Given the description of an element on the screen output the (x, y) to click on. 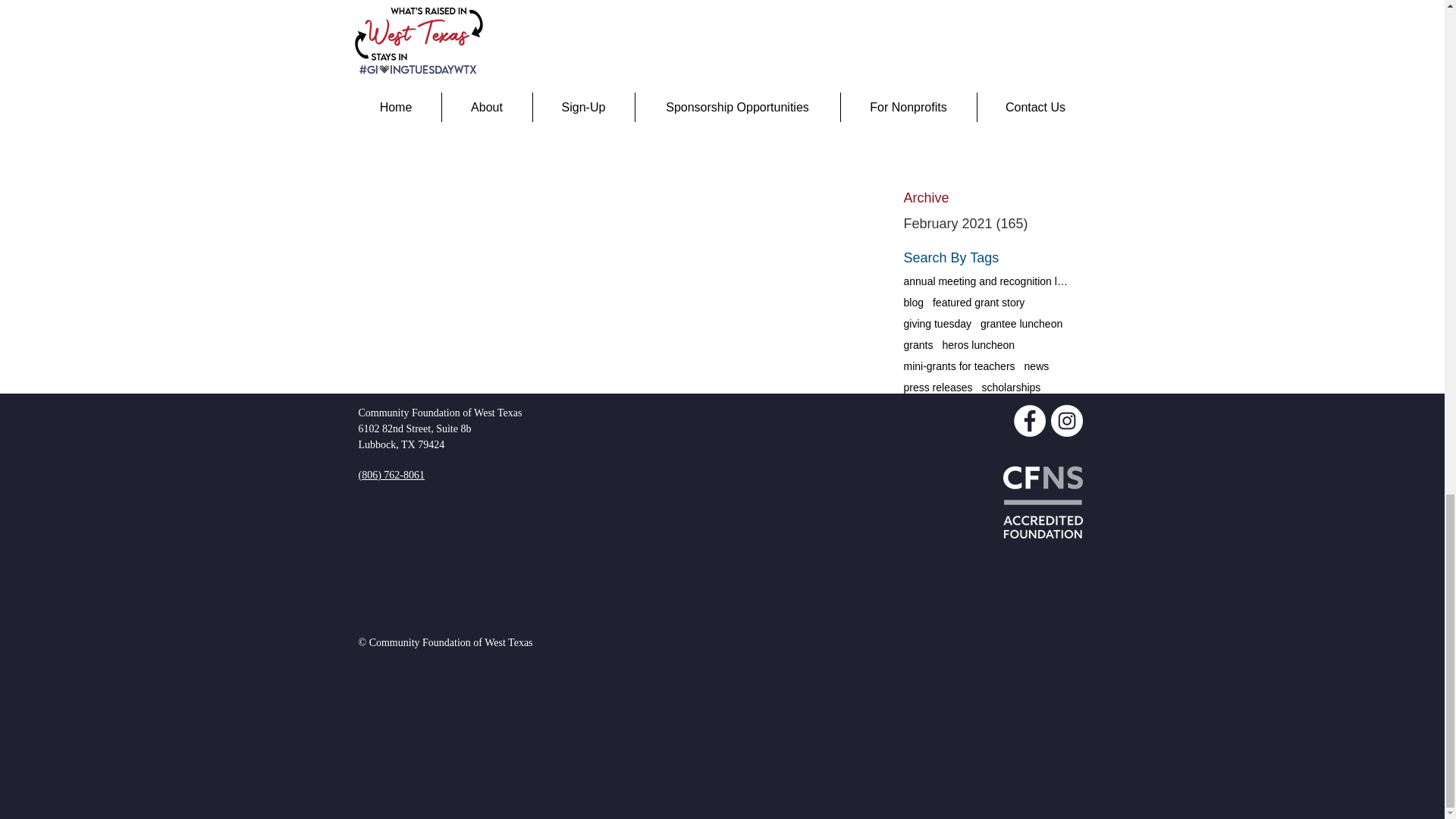
giving tuesday (938, 322)
annual meeting and recognition luncheon (987, 280)
featured grant story (979, 301)
heros luncheon (978, 344)
blog (913, 301)
grants (918, 344)
grantee luncheon (1020, 322)
